Given the description of an element on the screen output the (x, y) to click on. 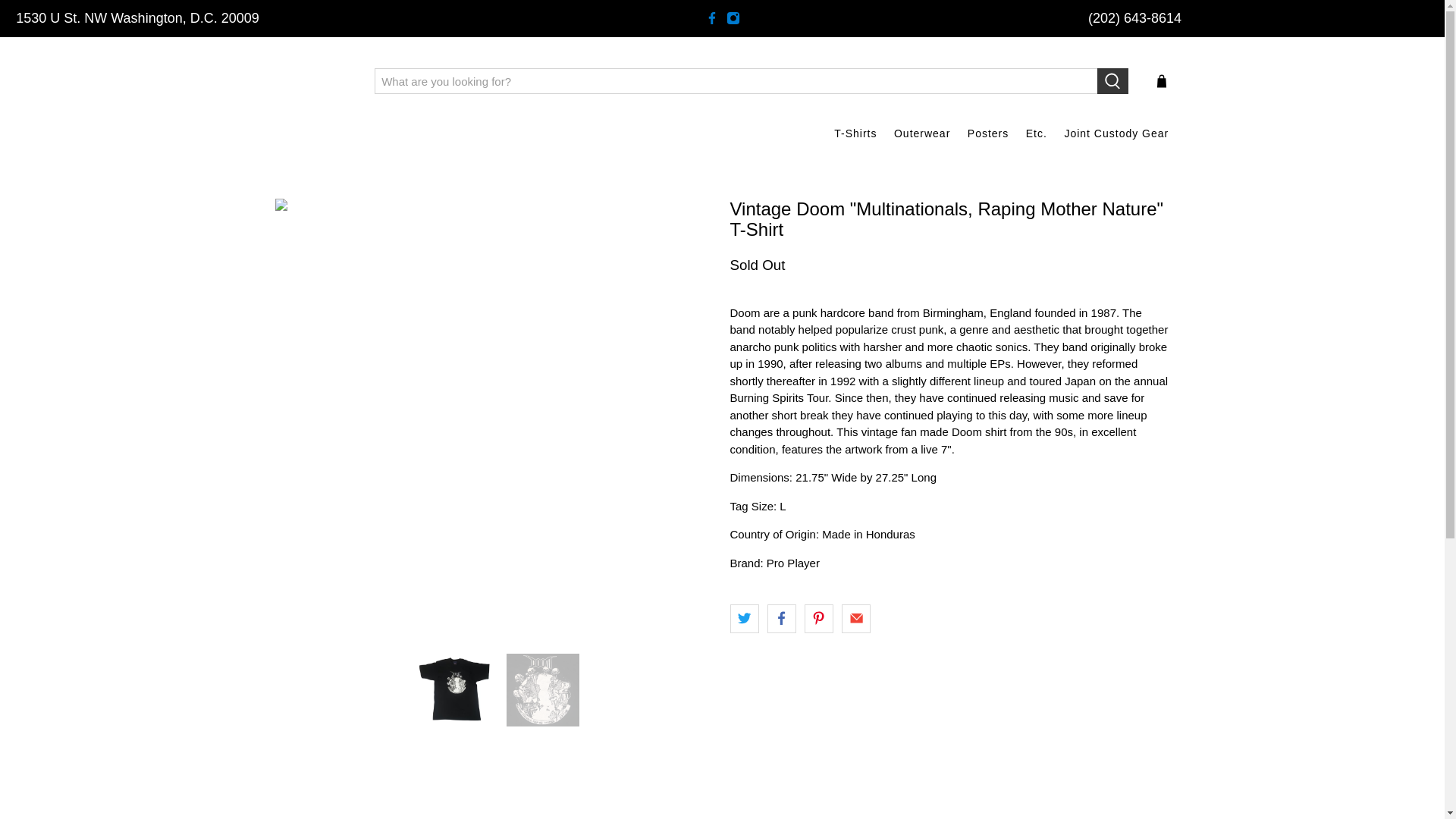
jointcustodydc (314, 81)
Email this to a friend (855, 618)
Outerwear (922, 133)
Joint Custody Gear (1115, 133)
jointcustodydc on Facebook (711, 18)
T-Shirts (855, 133)
Share this on Twitter (743, 618)
Posters (988, 133)
Share this on Facebook (781, 618)
Share this on Pinterest (818, 618)
